Given the description of an element on the screen output the (x, y) to click on. 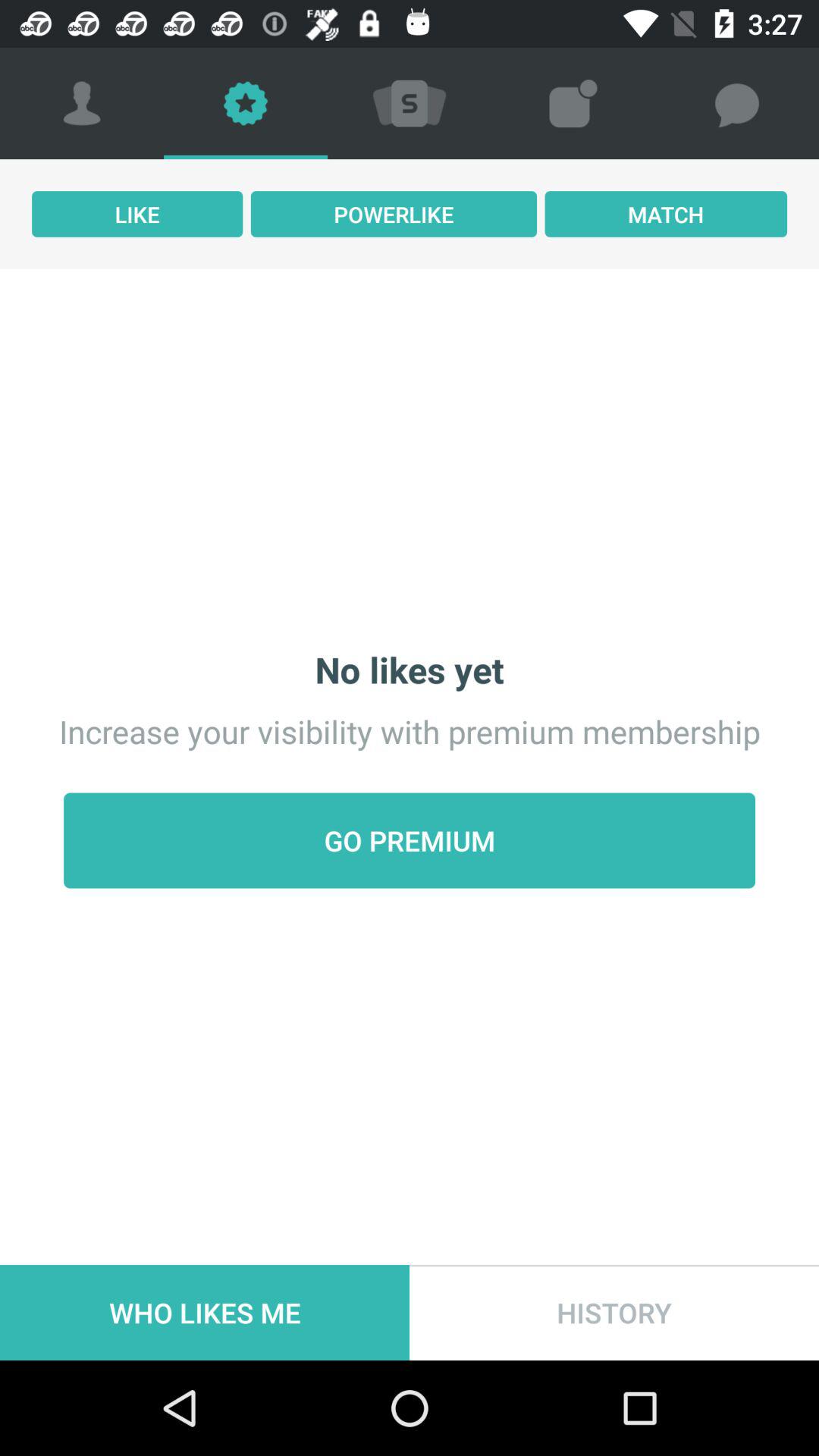
press the go premium icon (409, 840)
